Given the description of an element on the screen output the (x, y) to click on. 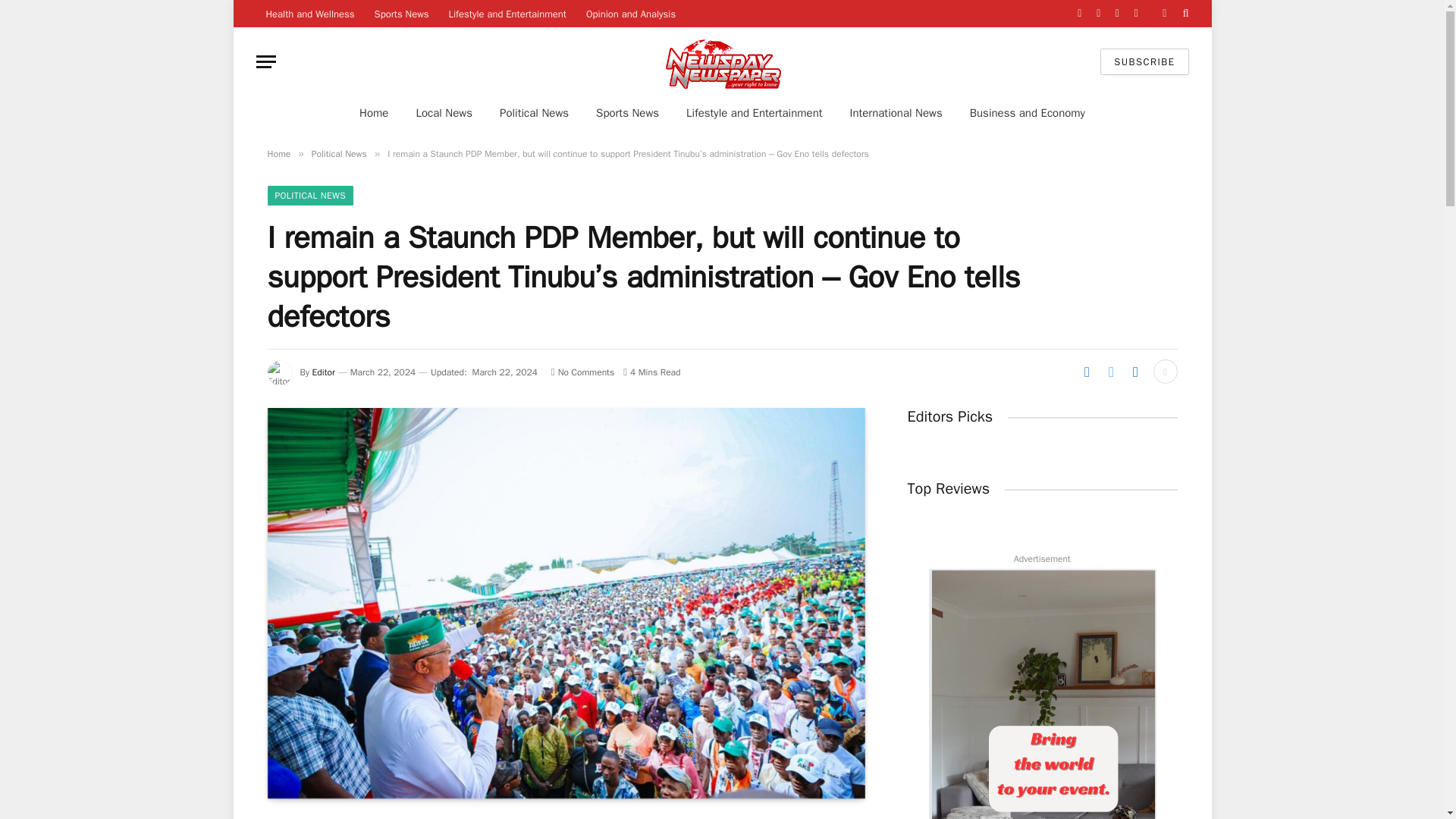
Sports News (627, 112)
Lifestyle and Entertainment (507, 13)
Political News (534, 112)
Editor (323, 372)
Business and Economy (1027, 112)
Switch to Dark Design - easier on eyes. (1164, 13)
Political News (338, 153)
POLITICAL NEWS (309, 195)
NewsDay Newspaper (722, 61)
Posts by Editor (323, 372)
